Given the description of an element on the screen output the (x, y) to click on. 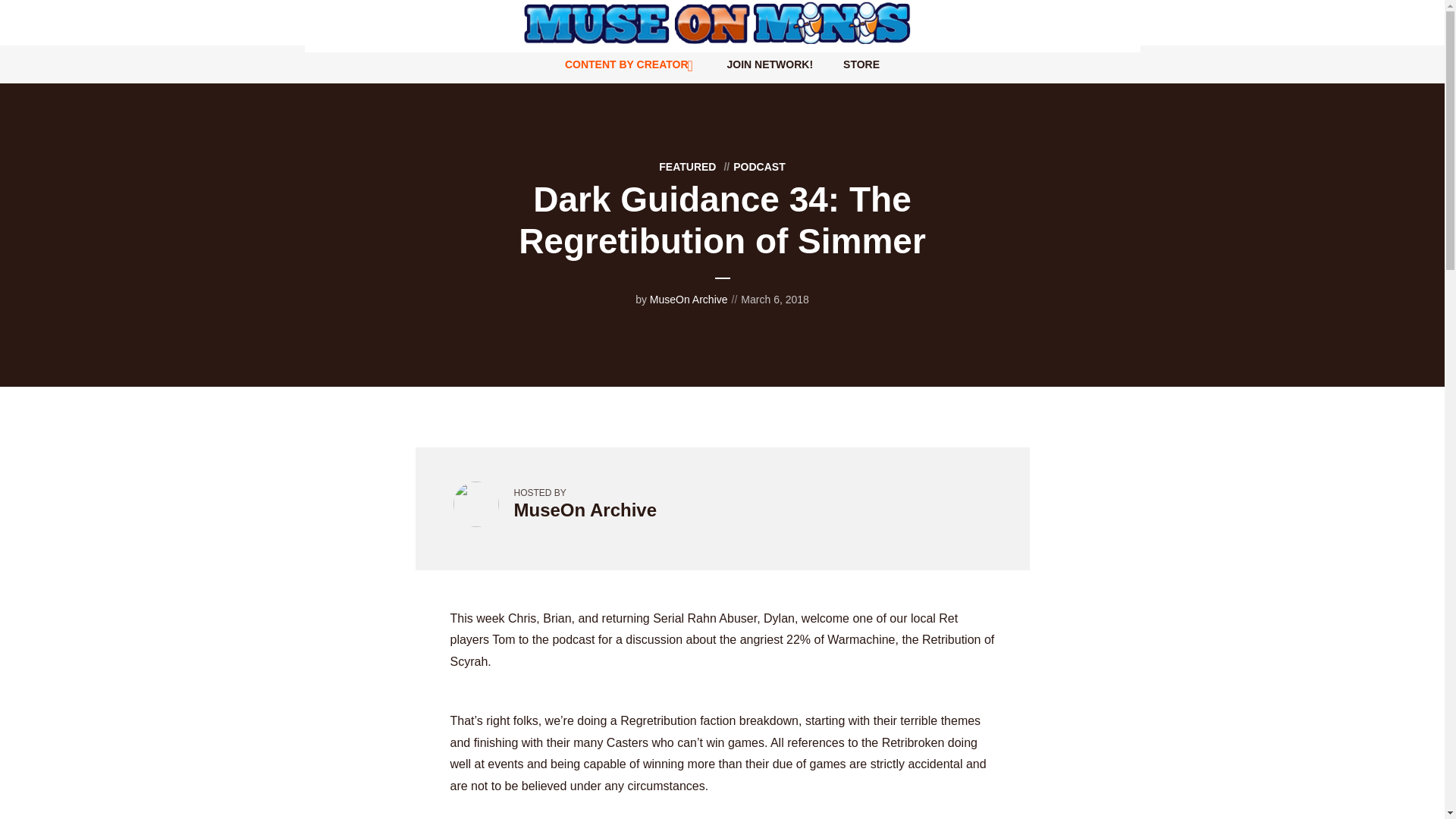
JOIN NETWORK! (769, 64)
STORE (861, 64)
CONTENT BY CREATOR (630, 64)
MuseOn Archive (585, 509)
PODCAST (751, 166)
MuseOn Archive (688, 299)
FEATURED (687, 166)
